Given the description of an element on the screen output the (x, y) to click on. 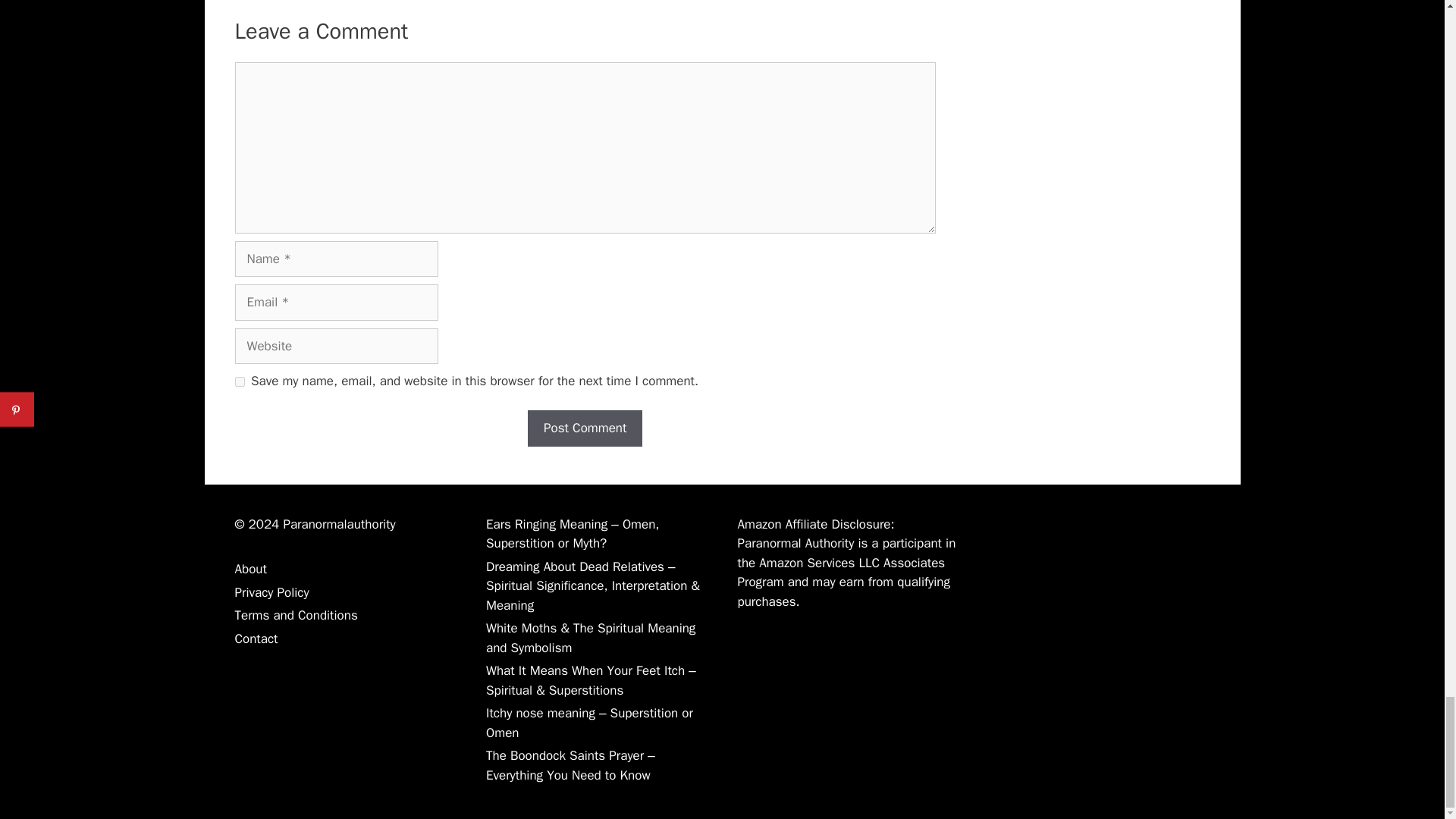
yes (239, 381)
Contact (256, 638)
About (250, 569)
Privacy Policy (271, 592)
Terms and Conditions (296, 615)
Post Comment (584, 428)
Post Comment (584, 428)
